Given the description of an element on the screen output the (x, y) to click on. 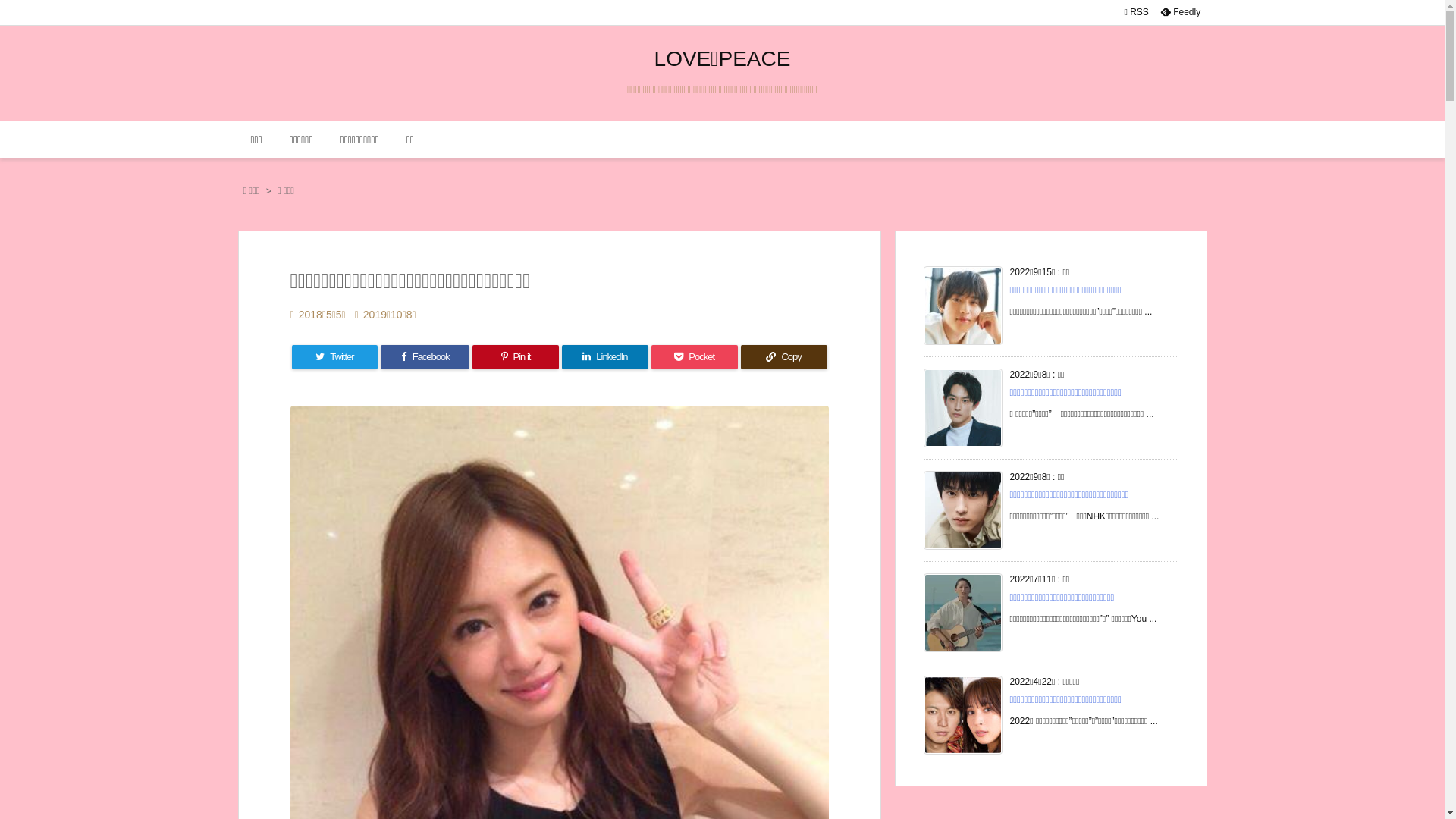
Pin it Element type: text (515, 357)
LinkedIn Element type: text (604, 357)
Twitter Element type: text (334, 357)
  Feedly  Element type: text (1179, 11)
Pocket Element type: text (694, 357)
Facebook Element type: text (424, 357)
Copy Element type: text (783, 357)
